Given the description of an element on the screen output the (x, y) to click on. 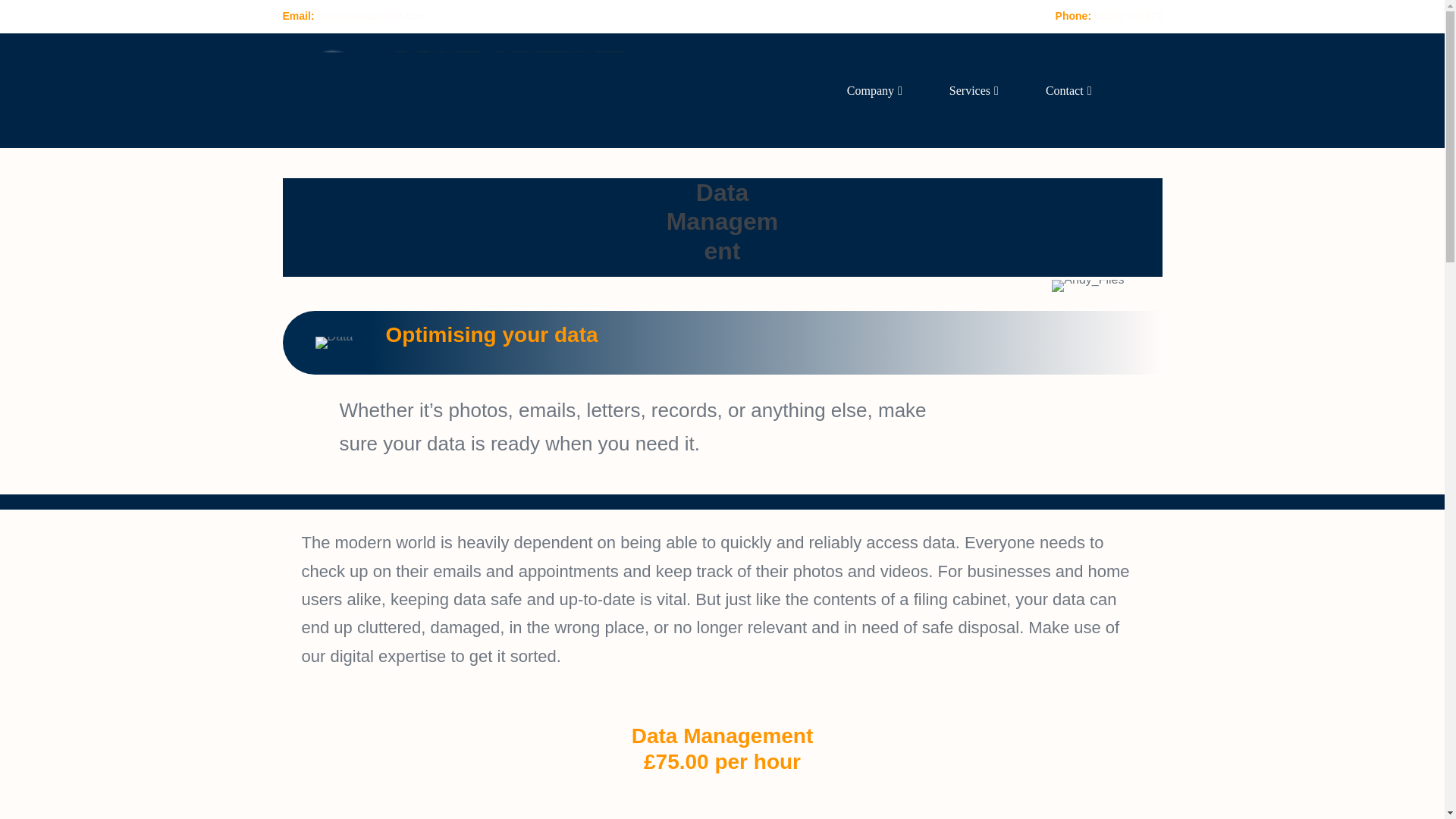
01392 984873 (1127, 15)
Company (875, 90)
Data (334, 342)
Solidarity IT (457, 90)
Contact (1068, 90)
Services (974, 90)
